Given the description of an element on the screen output the (x, y) to click on. 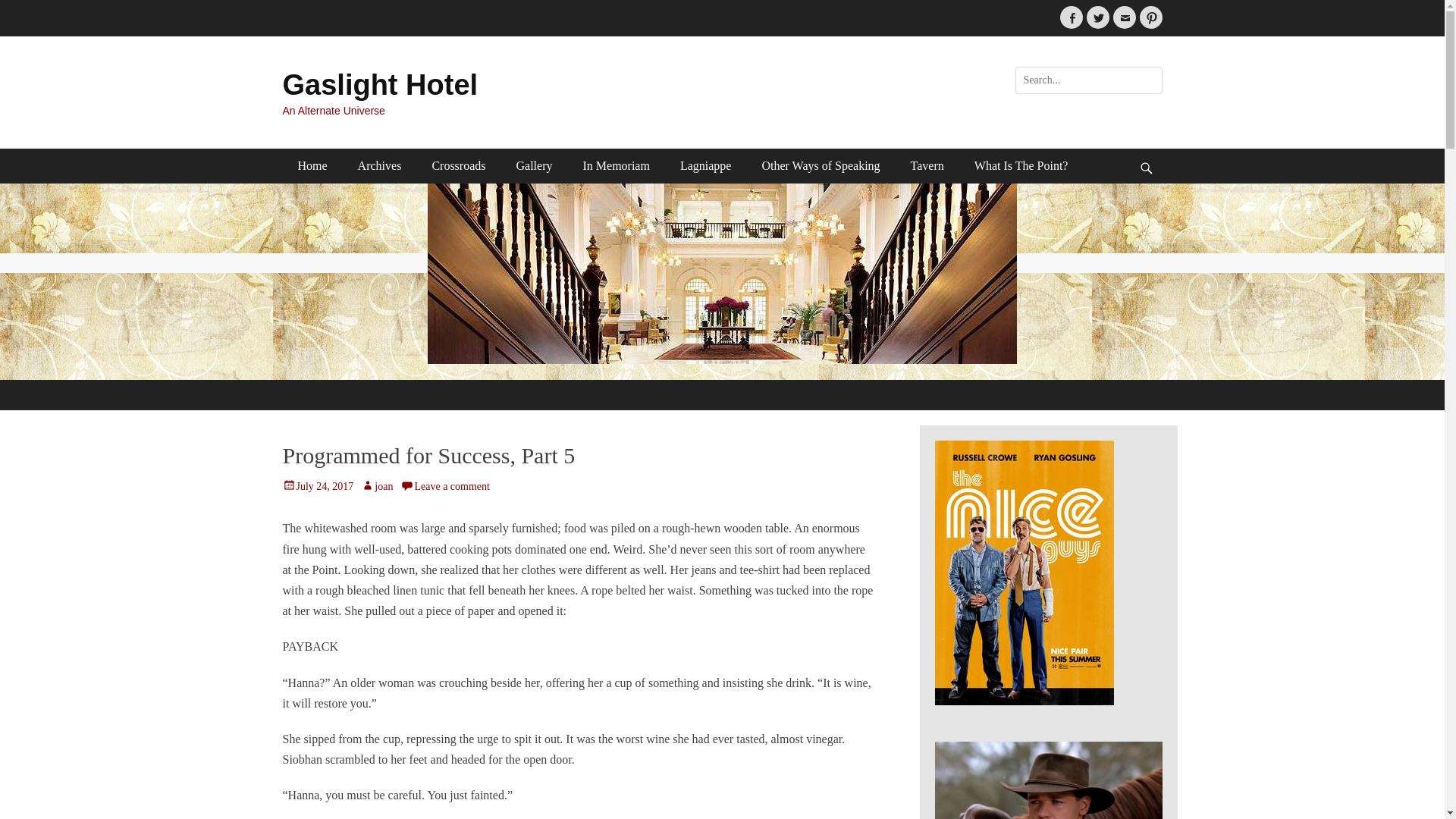
Search (22, 9)
Twitter (1097, 16)
Email (1124, 16)
Facebook (1071, 16)
Email (1124, 16)
Facebook (1071, 16)
Search for: (1087, 80)
Pinterest (1149, 16)
Home (312, 165)
Archives (379, 165)
